Given the description of an element on the screen output the (x, y) to click on. 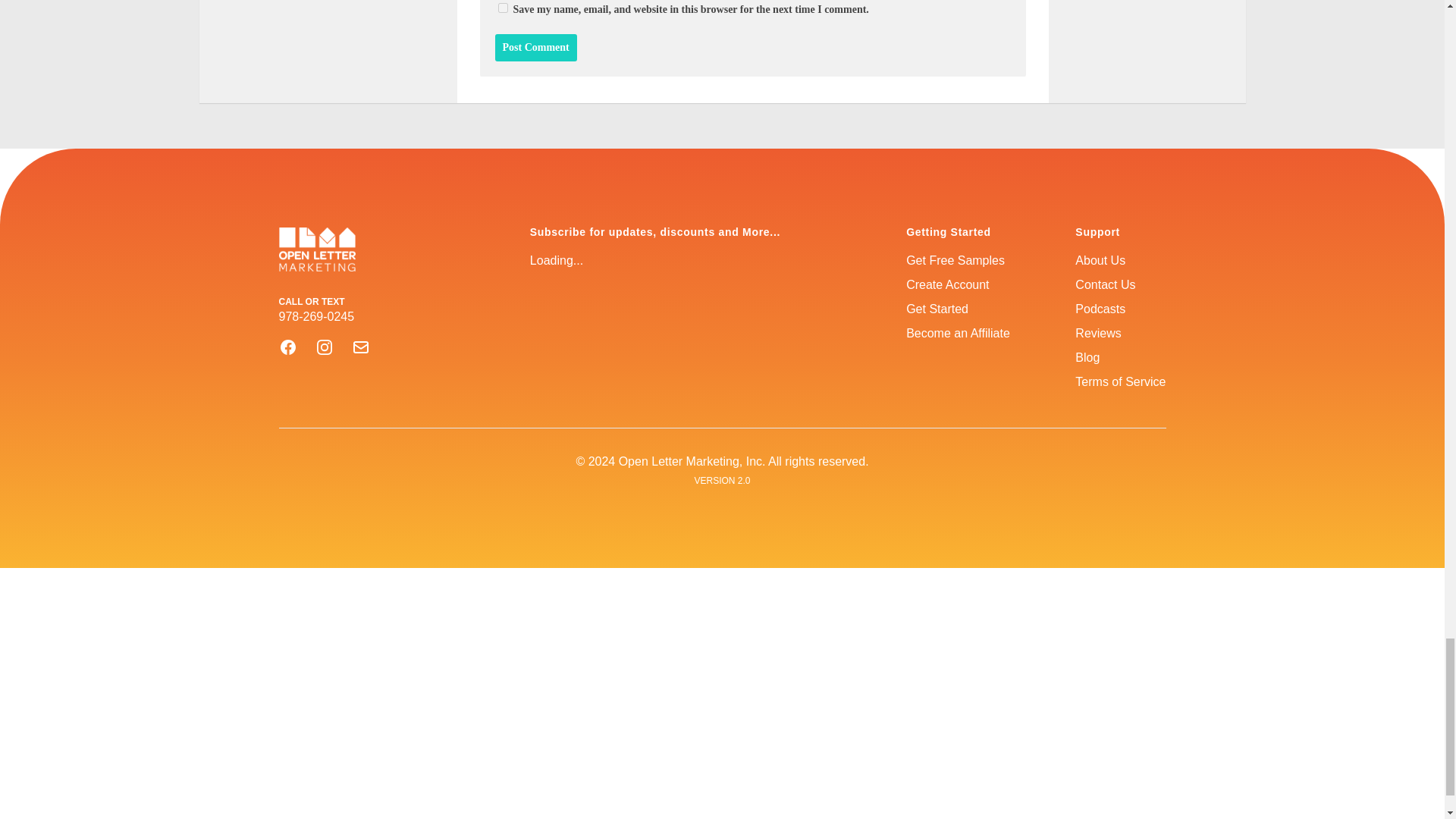
Post Comment (535, 47)
yes (501, 8)
Post Comment (535, 47)
